Given the description of an element on the screen output the (x, y) to click on. 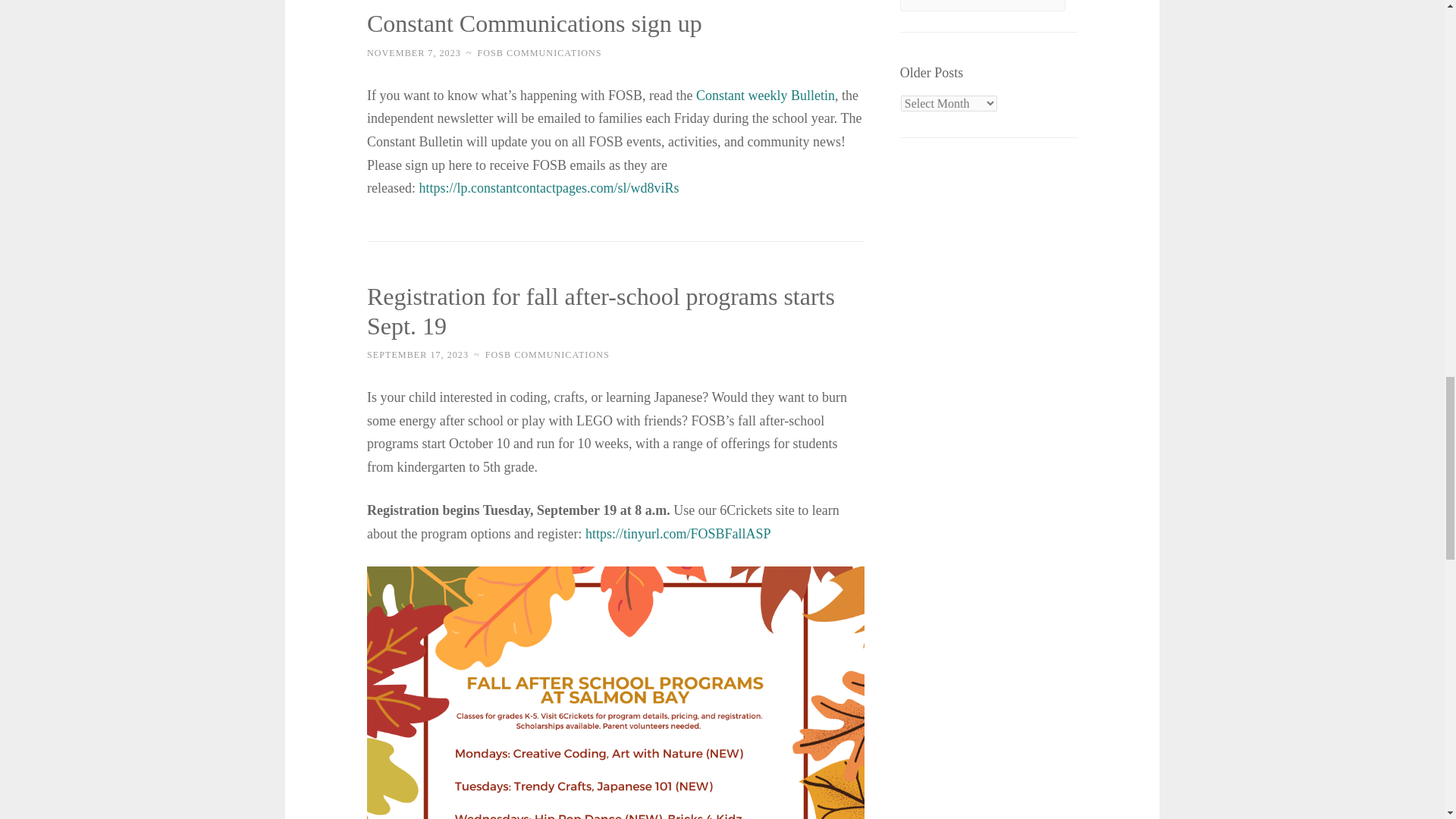
Registration for fall after-school programs starts Sept. 19 (600, 310)
FOSB COMMUNICATIONS (547, 354)
FOSB COMMUNICATIONS (539, 52)
SEPTEMBER 17, 2023 (417, 354)
NOVEMBER 7, 2023 (413, 52)
Constant weekly Bulletin (764, 95)
Constant Communications sign up (533, 22)
